Given the description of an element on the screen output the (x, y) to click on. 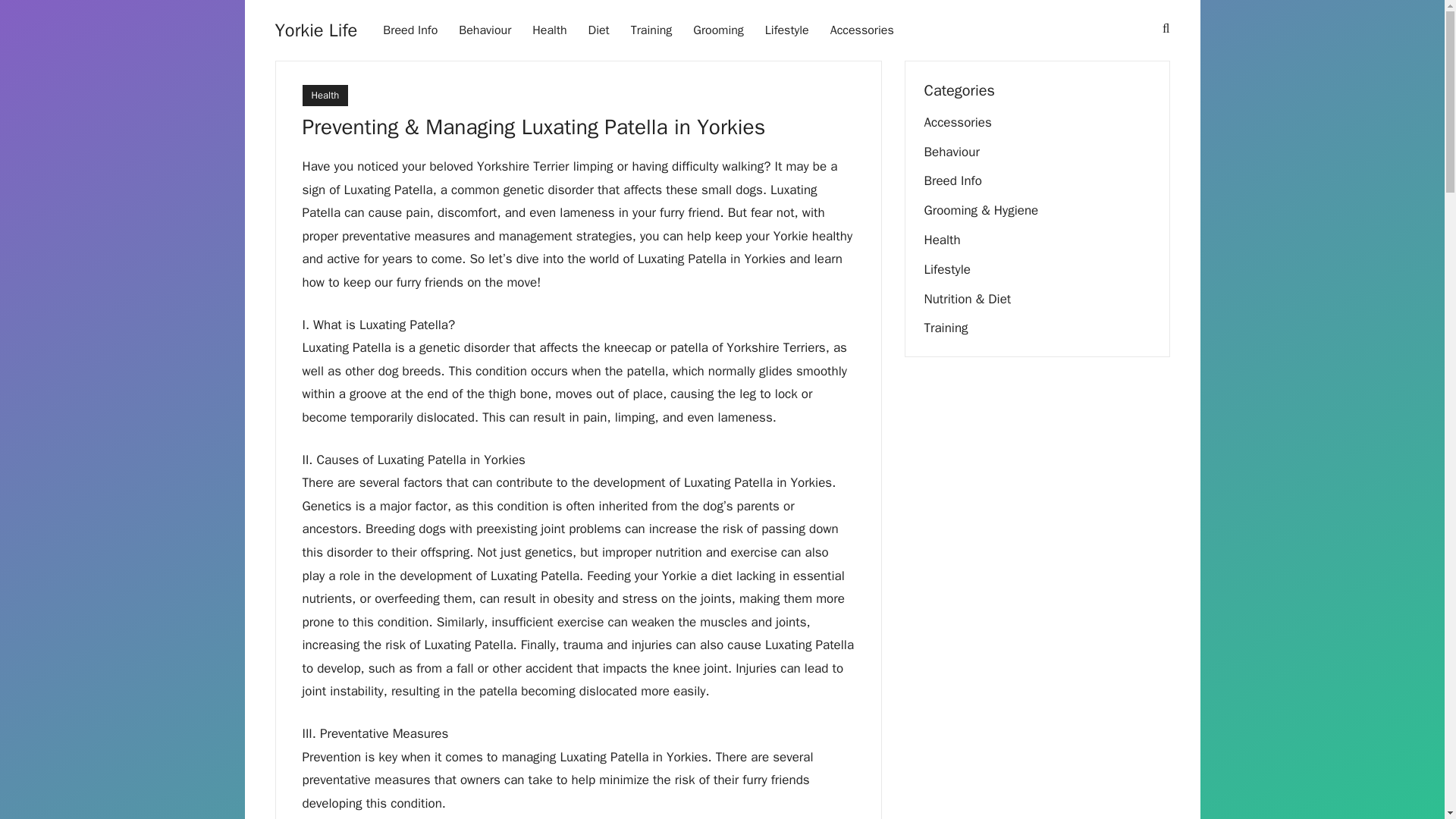
Health (548, 30)
Breed Info (410, 30)
Accessories (861, 30)
Yorkie Life (315, 30)
Behaviour (950, 151)
Accessories (957, 122)
Training (651, 30)
Lifestyle (786, 30)
Diet (599, 30)
Health (324, 95)
